Given the description of an element on the screen output the (x, y) to click on. 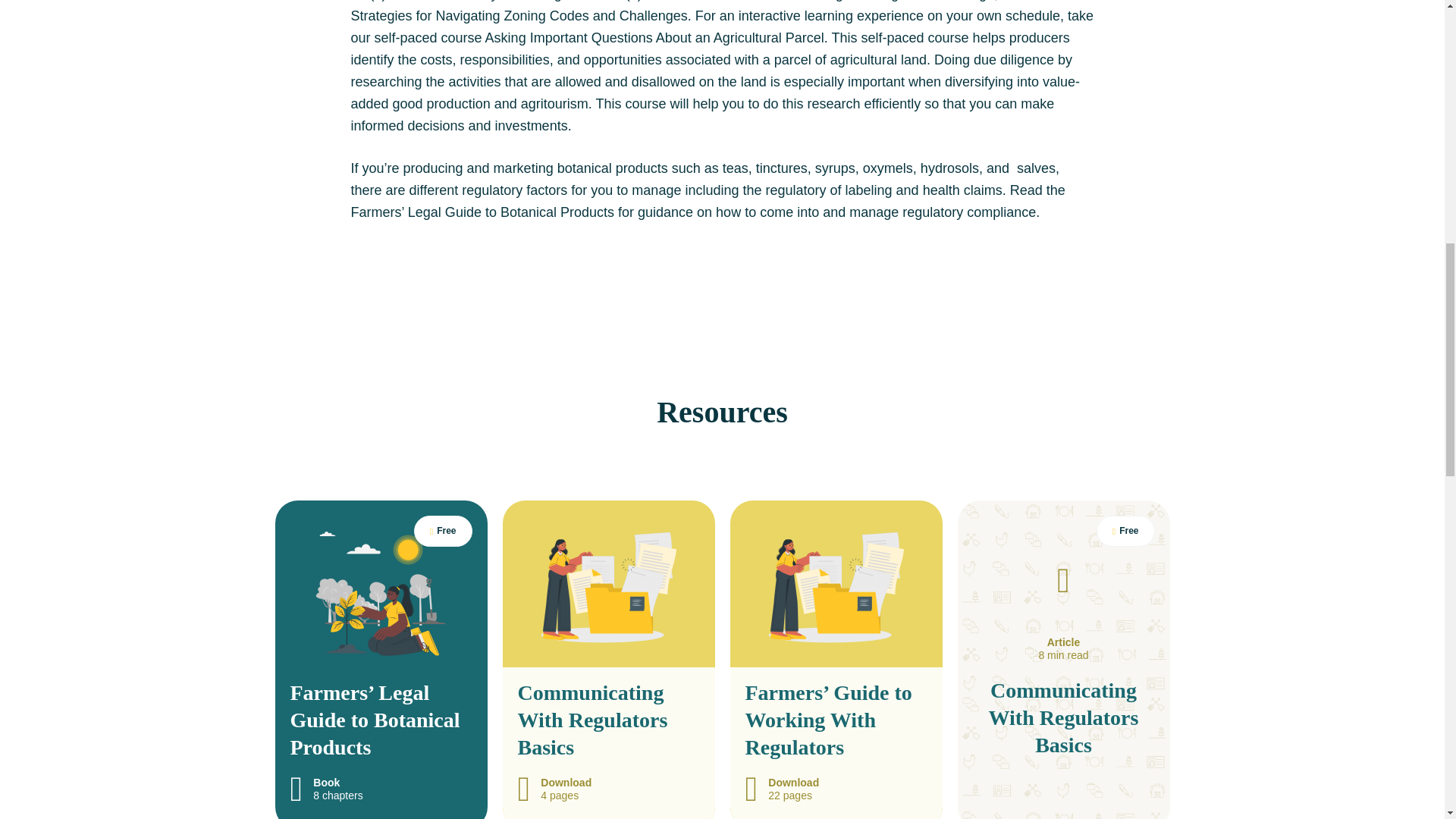
Strategies for Navigating Zoning Codes and Challenges (518, 15)
Asking Important Questions About an Agricultural Parcel (654, 37)
